Given the description of an element on the screen output the (x, y) to click on. 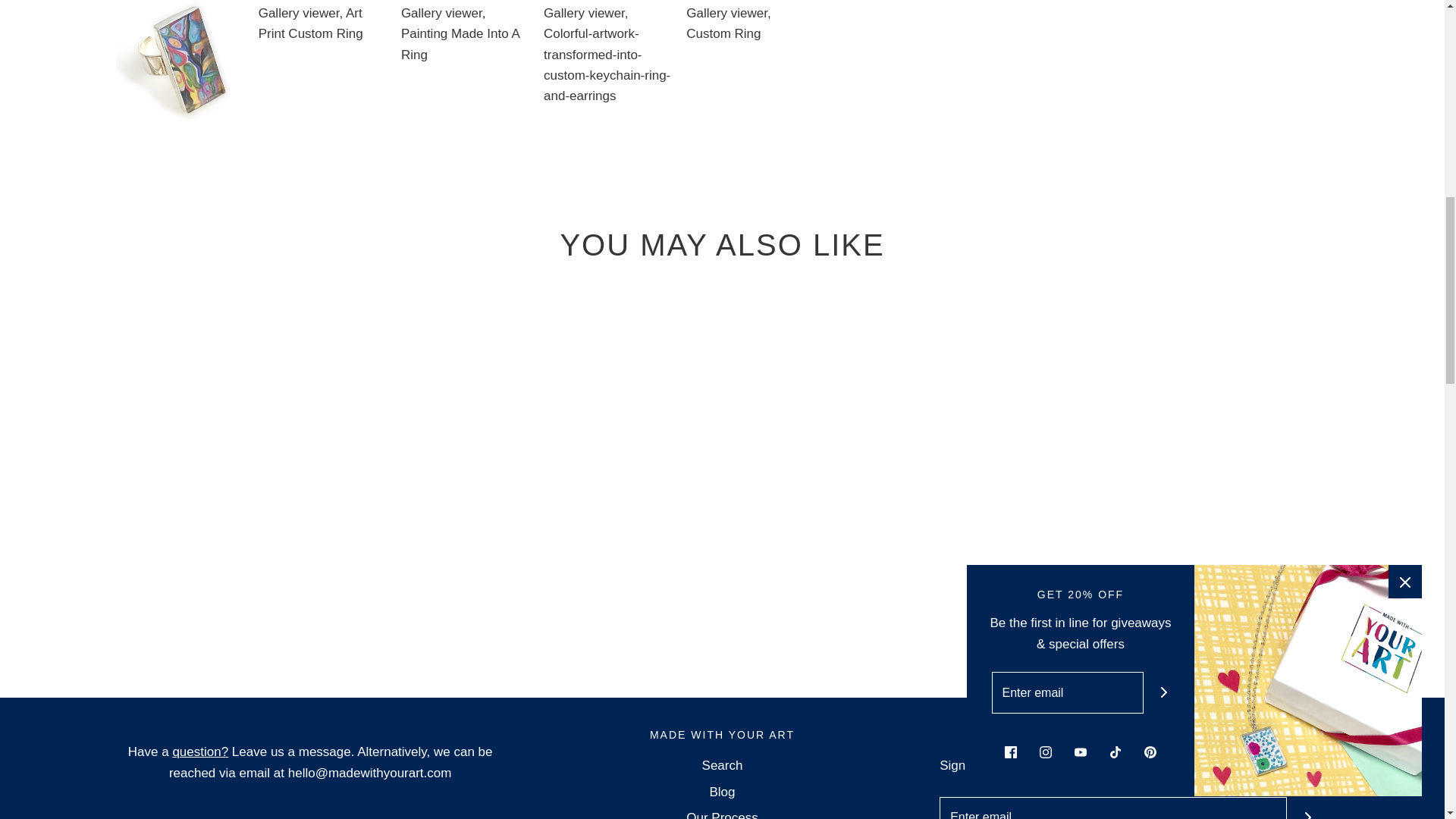
We'd love to hear from you... (199, 751)
